Given the description of an element on the screen output the (x, y) to click on. 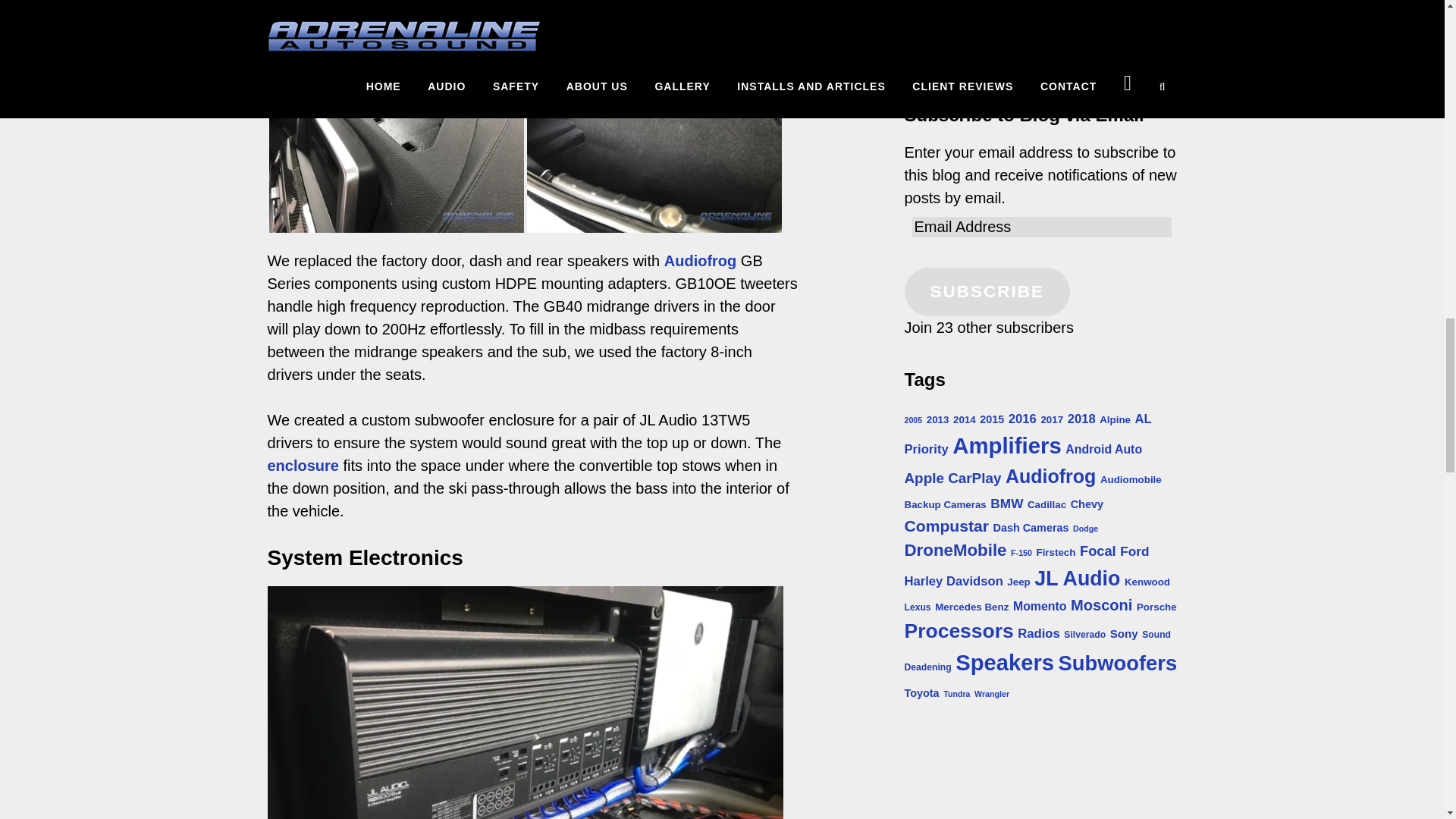
BMW M6 Audio-3 (394, 136)
BMW M6 Audio-5 (652, 136)
